Given the description of an element on the screen output the (x, y) to click on. 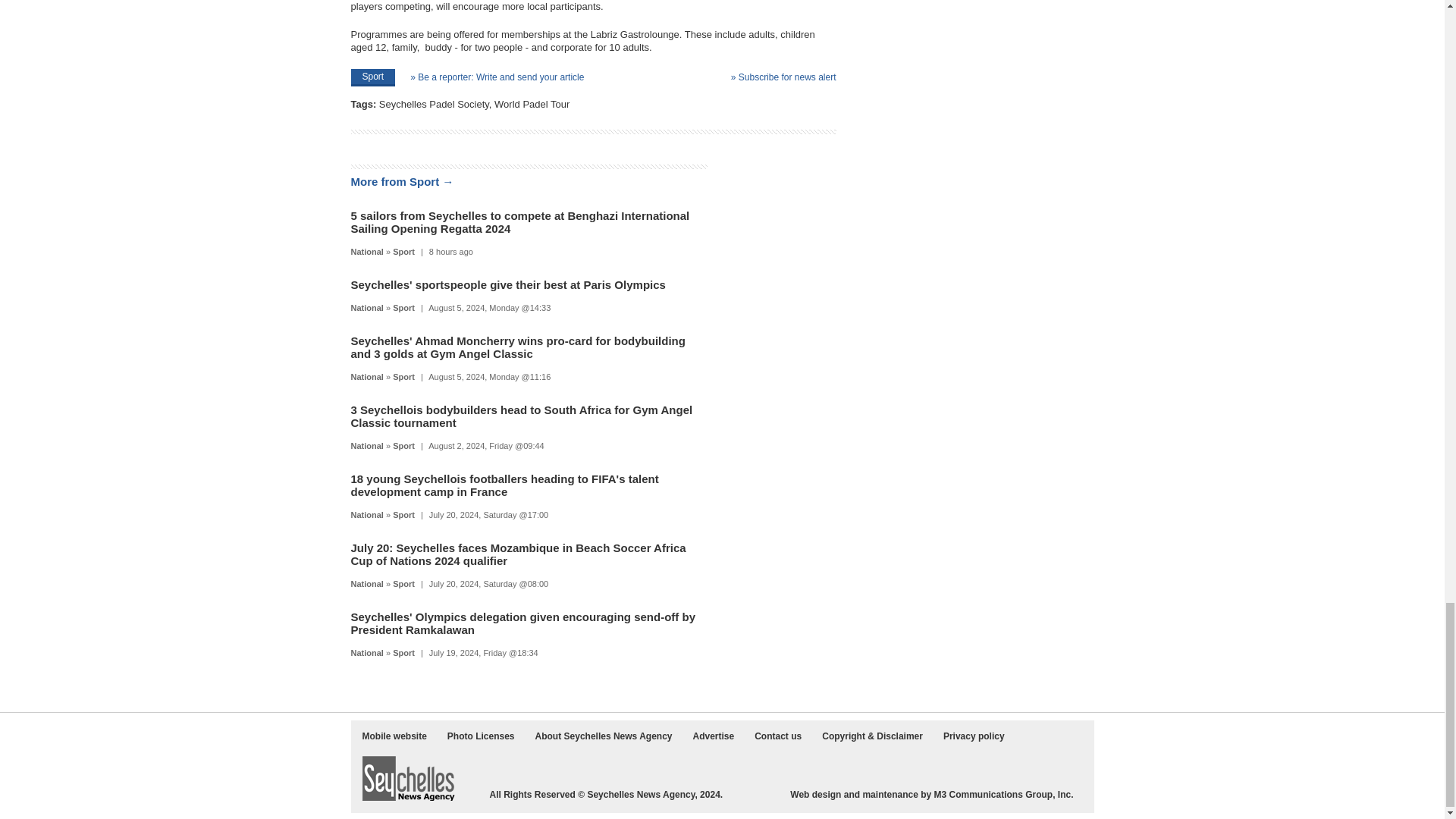
Subscribe for news alert (782, 77)
Sport News (403, 307)
Sport (372, 77)
, World Padel Tour (529, 103)
Sport News (403, 251)
Seychelles Padel Society (433, 103)
Sport (403, 251)
